Given the description of an element on the screen output the (x, y) to click on. 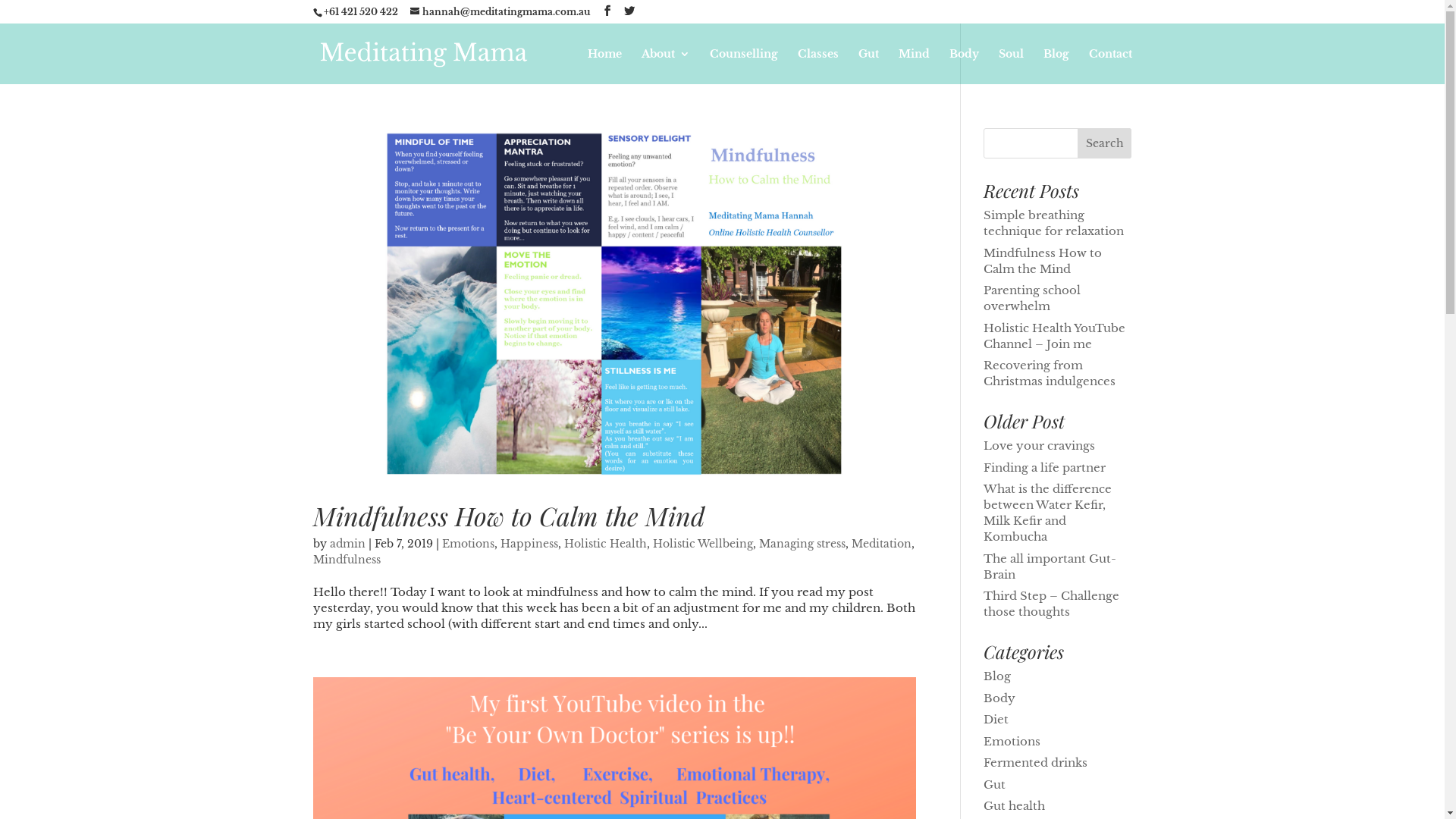
Gut Element type: text (868, 66)
Body Element type: text (999, 697)
Holistic Wellbeing Element type: text (702, 543)
Soul Element type: text (1009, 66)
Mind Element type: text (912, 66)
Home Element type: text (603, 66)
The all important Gut-Brain Element type: text (1049, 565)
hannah@meditatingmama.com.au Element type: text (499, 11)
Mindfulness Element type: text (345, 559)
Managing stress Element type: text (801, 543)
Emotions Element type: text (467, 543)
Parenting school overwhelm Element type: text (1031, 297)
Gut health Element type: text (1013, 805)
Blog Element type: text (1056, 66)
Blog Element type: text (996, 675)
Contact Element type: text (1110, 66)
Love your cravings Element type: text (1039, 445)
Emotions Element type: text (1011, 741)
Gut Element type: text (994, 783)
Happiness Element type: text (529, 543)
Diet Element type: text (995, 719)
Counselling Element type: text (743, 66)
Body Element type: text (964, 66)
Mindfulness How to Calm the Mind Element type: text (1042, 260)
Simple breathing technique for relaxation Element type: text (1053, 222)
Holistic Health Element type: text (605, 543)
admin Element type: text (346, 543)
Classes Element type: text (817, 66)
Finding a life partner Element type: text (1044, 466)
About Element type: text (665, 66)
Meditation Element type: text (880, 543)
Recovering from Christmas indulgences Element type: text (1049, 372)
Search Element type: text (1104, 143)
Mindfulness How to Calm the Mind Element type: text (507, 515)
Fermented drinks Element type: text (1035, 762)
